Given the description of an element on the screen output the (x, y) to click on. 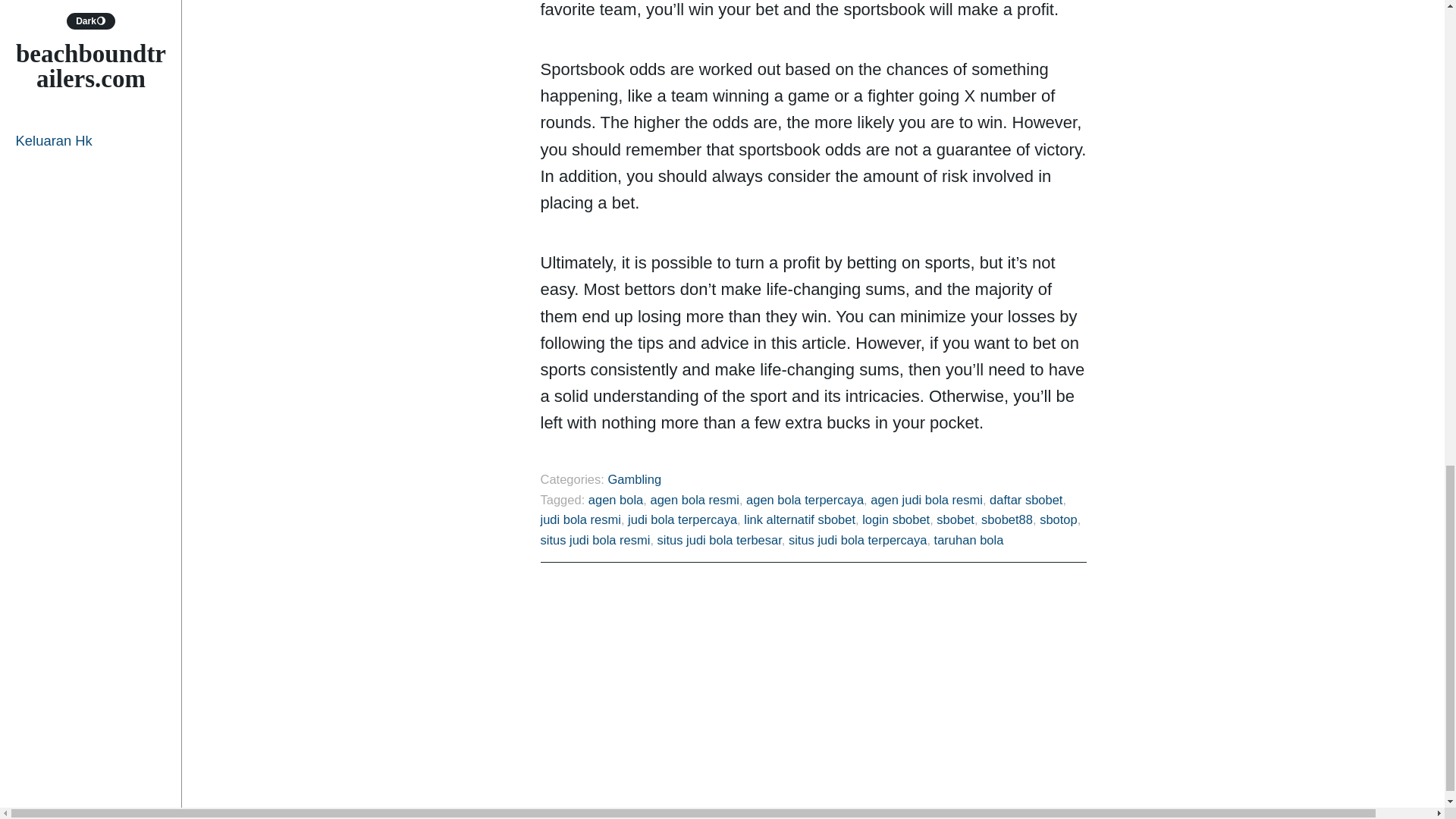
sbotop (1058, 519)
agen judi bola resmi (926, 499)
Gambling (634, 479)
judi bola resmi (580, 519)
agen bola resmi (693, 499)
sbobet88 (1006, 519)
situs judi bola terbesar (719, 540)
daftar sbobet (1026, 499)
agen bola terpercaya (804, 499)
login sbobet (895, 519)
